Given the description of an element on the screen output the (x, y) to click on. 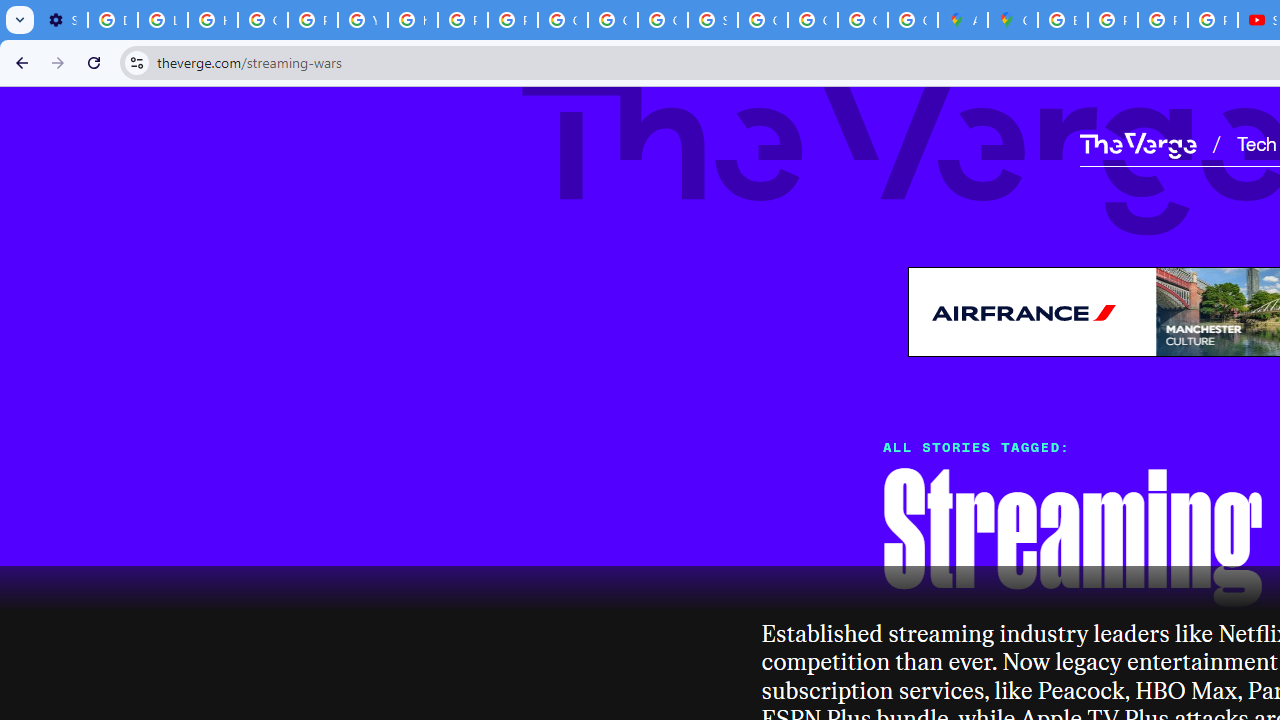
The Verge homepage The Verge (1137, 142)
Privacy Help Center - Policies Help (312, 20)
The Verge (1137, 145)
Blogger Policies and Guidelines - Transparency Center (1062, 20)
Tech (1256, 142)
YouTube (362, 20)
Privacy Help Center - Policies Help (462, 20)
https://scholar.google.com/ (412, 20)
